Given the description of an element on the screen output the (x, y) to click on. 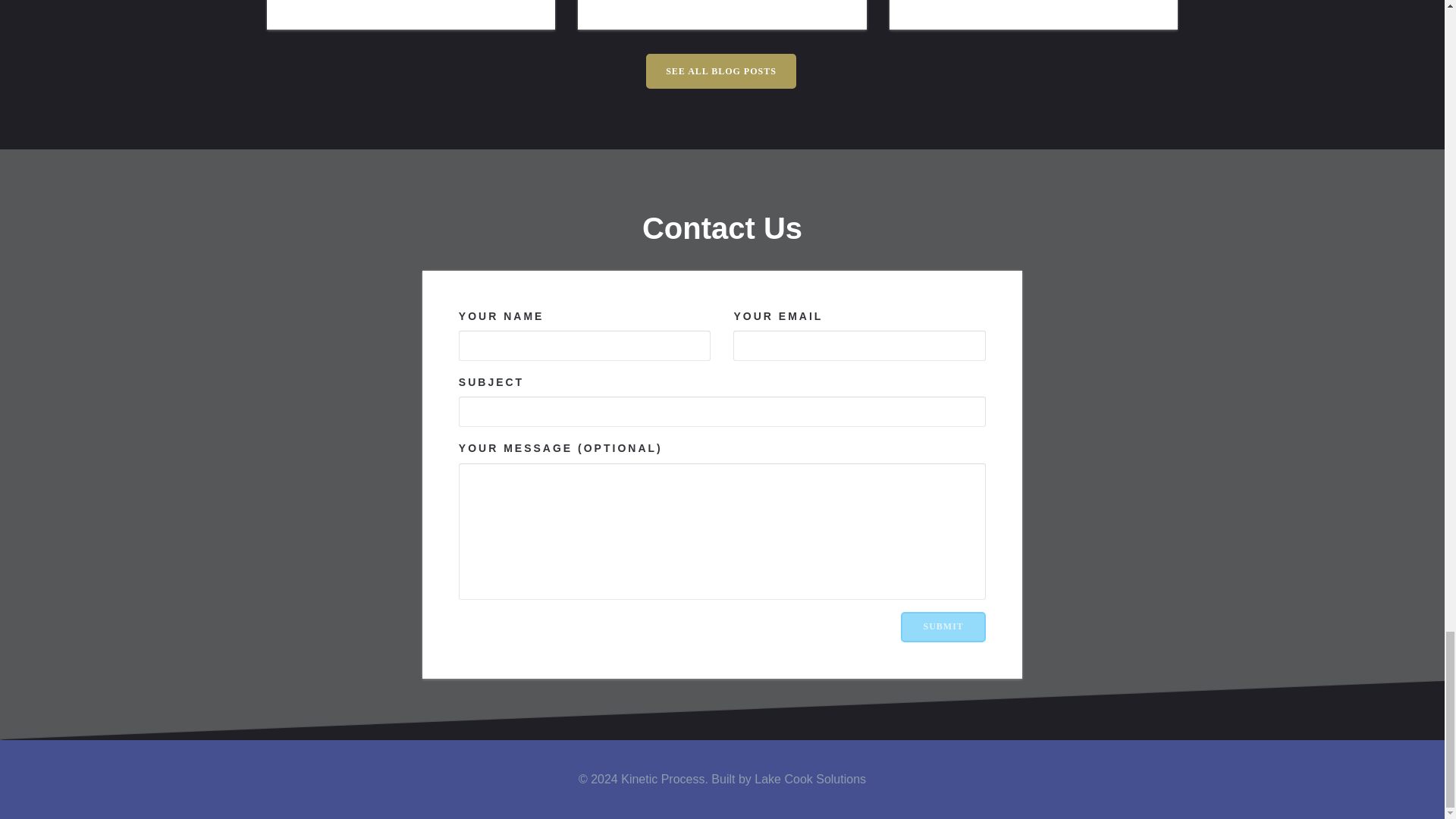
Submit (943, 626)
Submit (943, 626)
SEE ALL BLOG POSTS (721, 71)
